Given the description of an element on the screen output the (x, y) to click on. 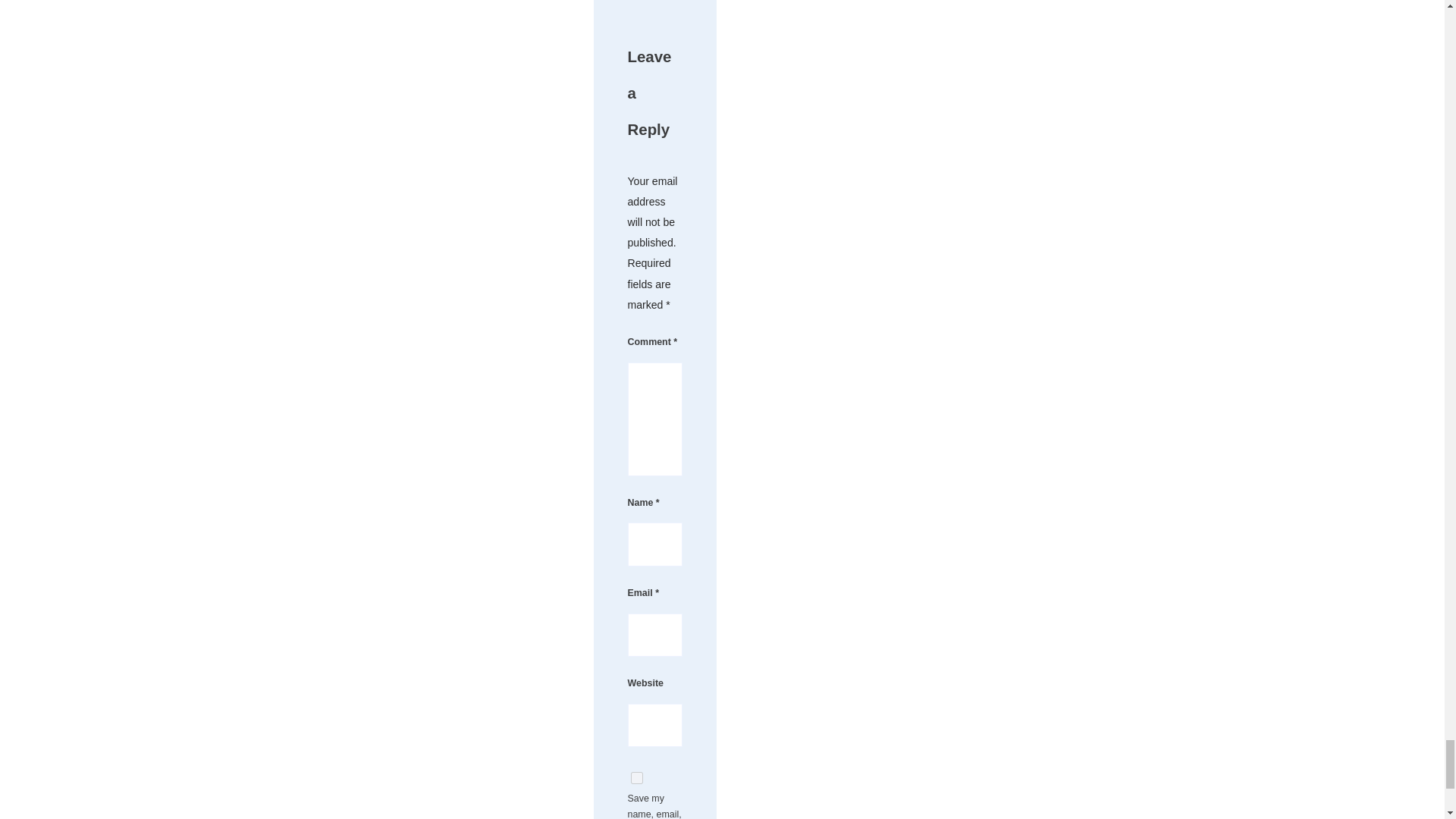
yes (636, 777)
